Given the description of an element on the screen output the (x, y) to click on. 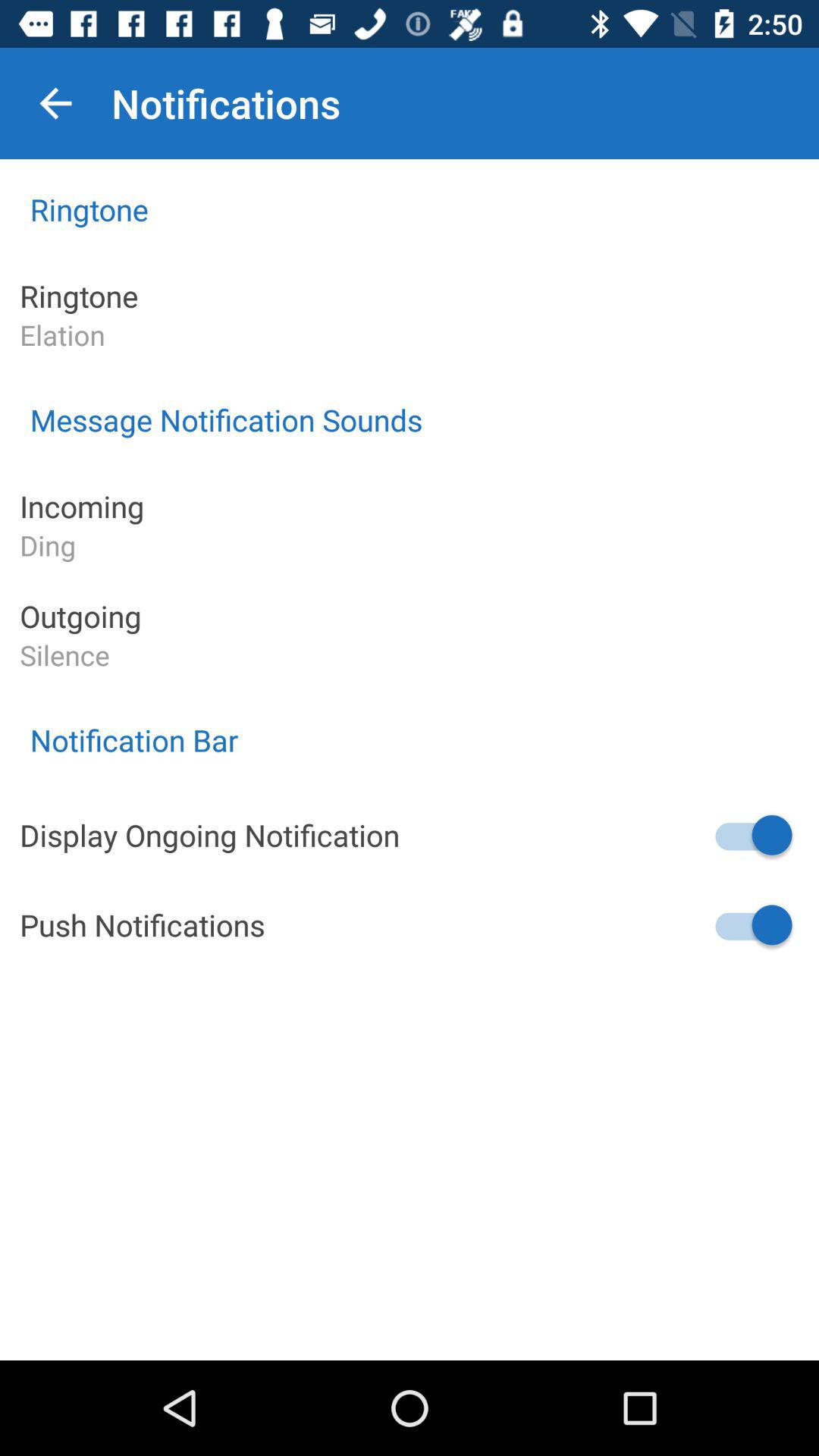
toggle display ongoing notification (751, 835)
